Given the description of an element on the screen output the (x, y) to click on. 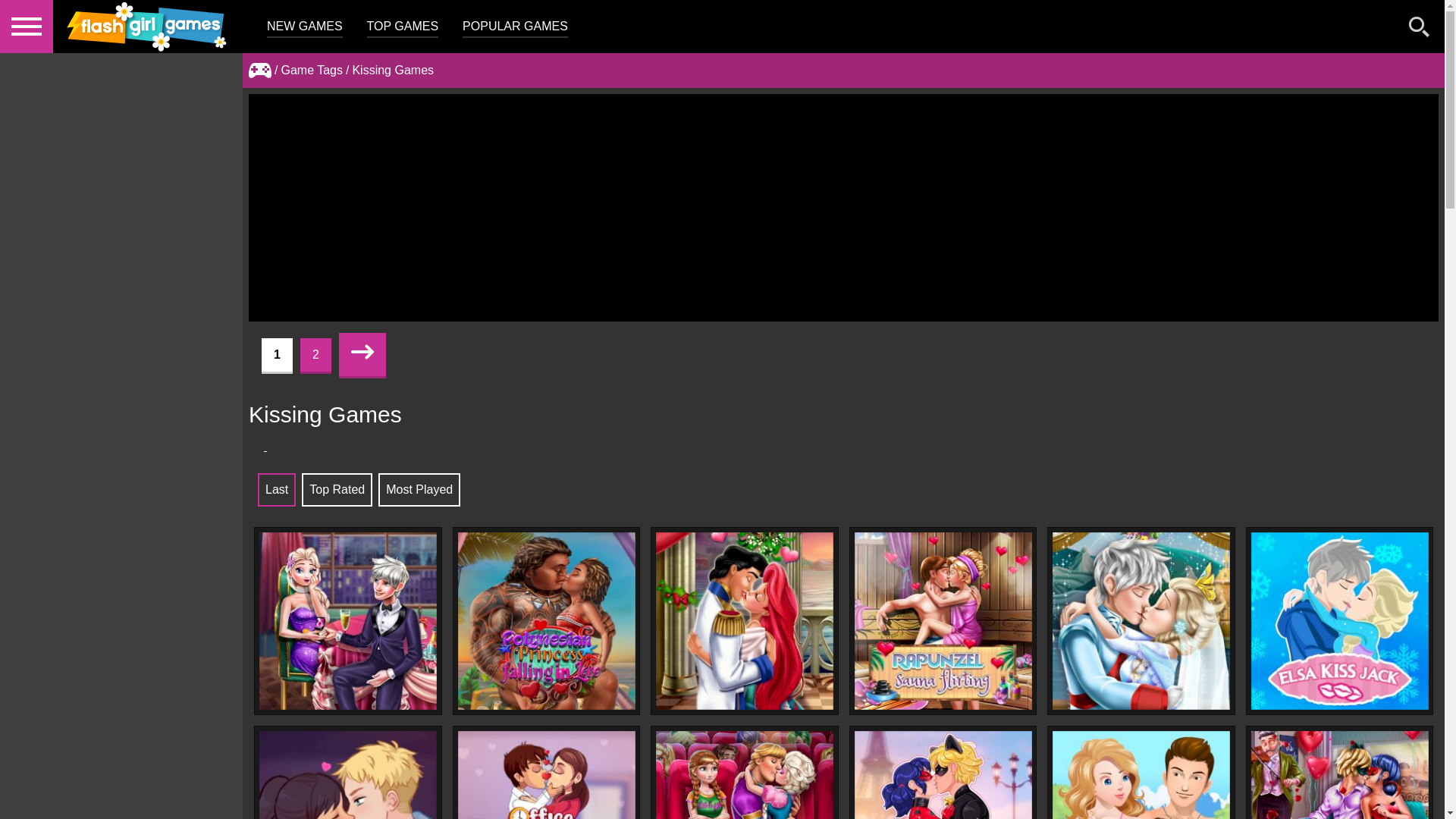
POPULAR GAMES (515, 27)
TOP GAMES (402, 27)
Popular Games (515, 27)
Top Games (402, 27)
New Games (304, 27)
NEW GAMES (304, 27)
